Given the description of an element on the screen output the (x, y) to click on. 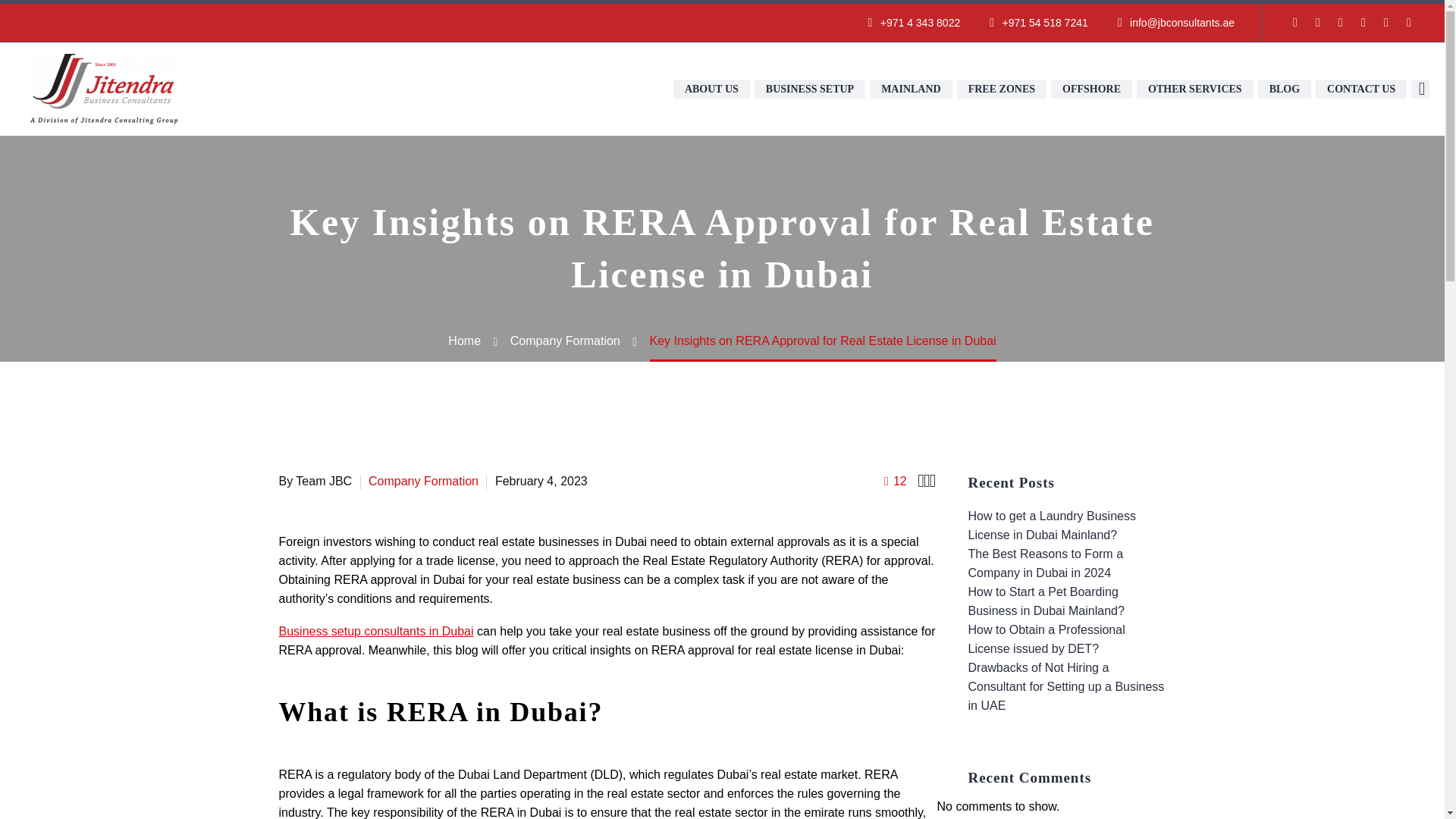
OFFSHORE (1091, 88)
ABOUT US (710, 88)
FREE ZONES (1001, 88)
OTHER SERVICES (1195, 88)
Instagram (1363, 22)
Facebook (1295, 22)
Twitter (1340, 22)
Like this (895, 480)
YouTube (1385, 22)
WhatsApp (1409, 22)
